Given the description of an element on the screen output the (x, y) to click on. 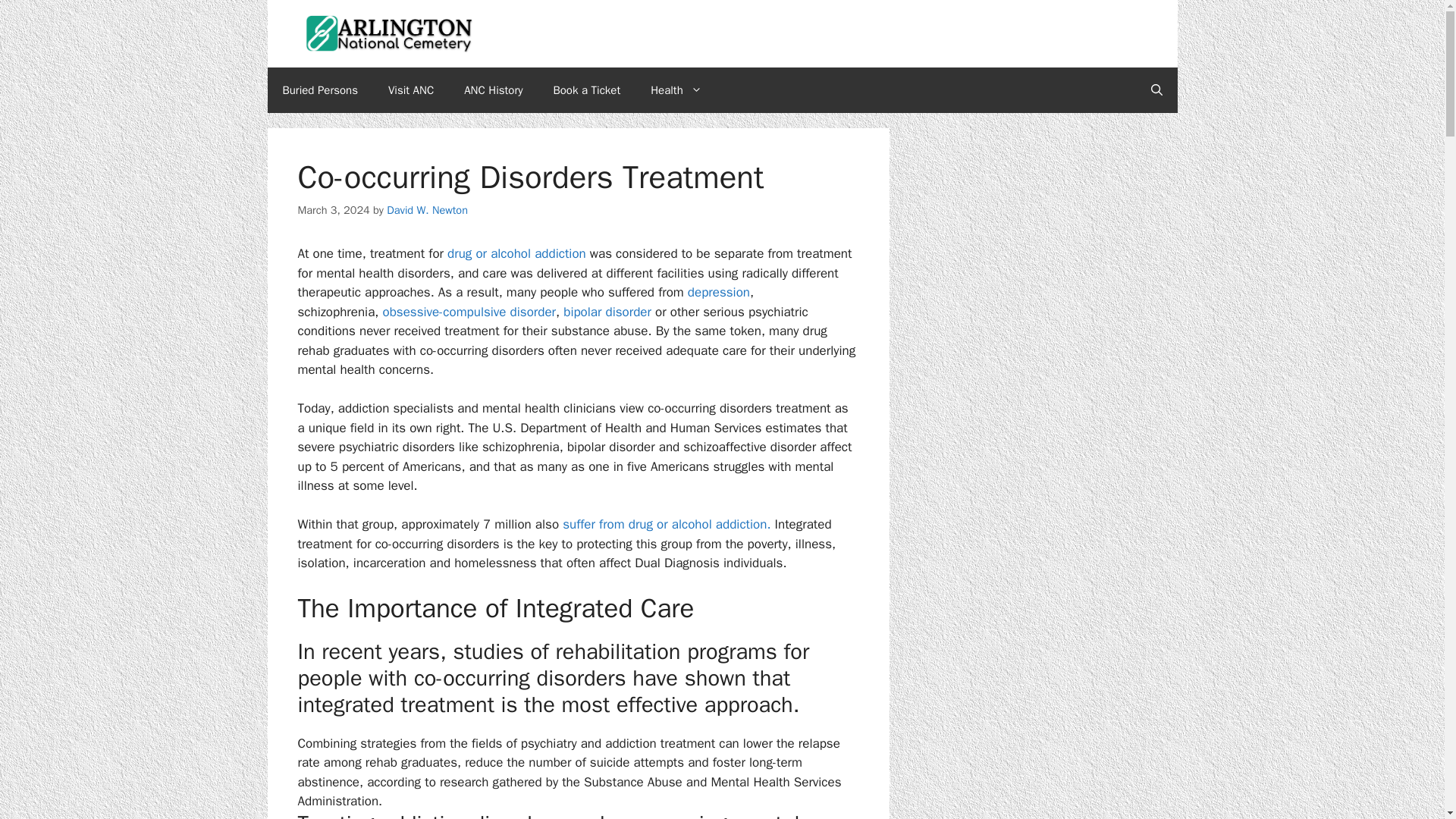
Buried Persons (319, 90)
Visit ANC (410, 90)
Health (675, 90)
Buried Persons (319, 90)
Book a Ticket (587, 90)
ANC History (492, 90)
View all posts by David W. Newton (427, 210)
